Given the description of an element on the screen output the (x, y) to click on. 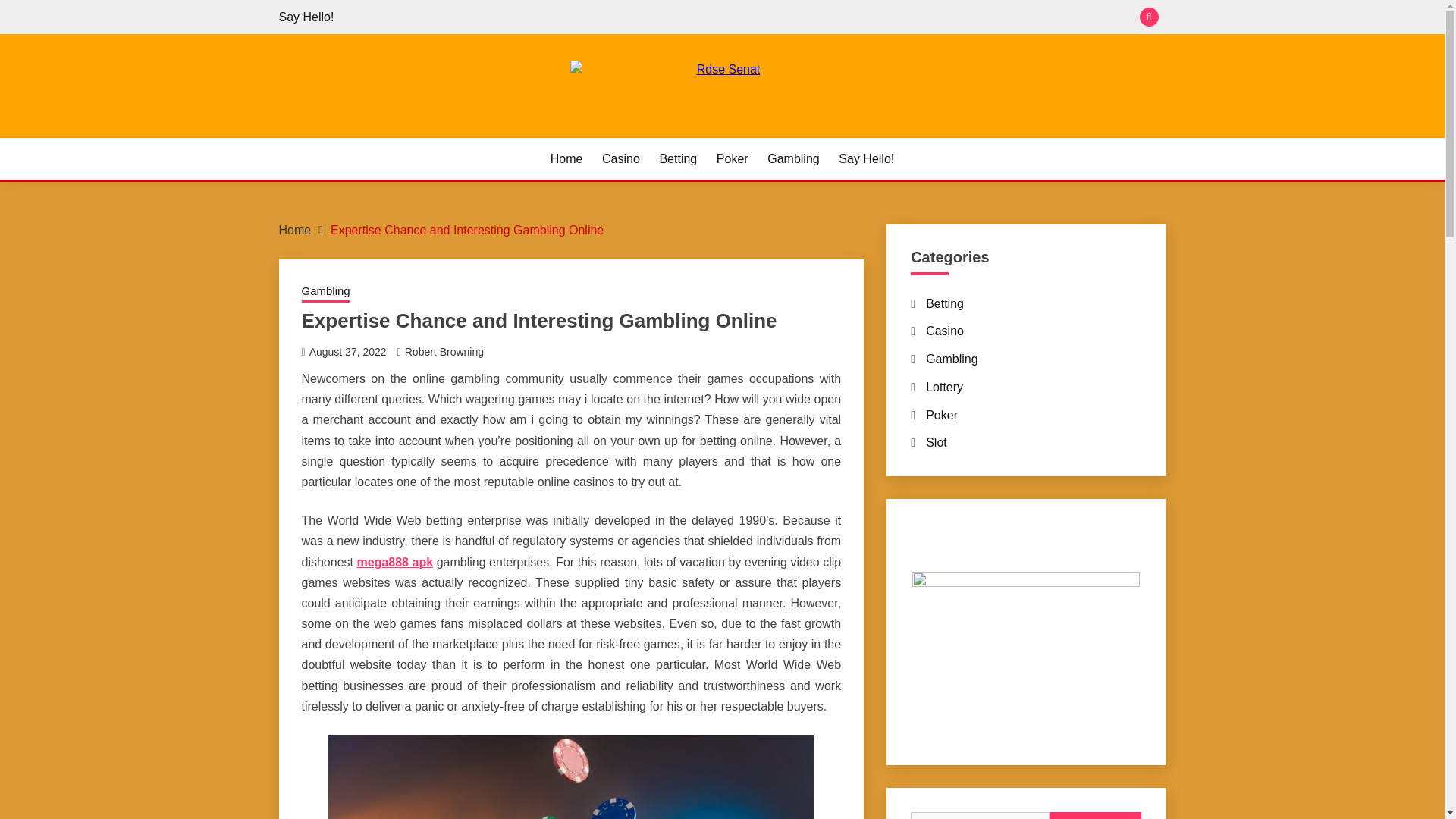
Home (566, 158)
Gambling (792, 158)
Gambling (951, 358)
Betting (678, 158)
August 27, 2022 (347, 351)
Slot (936, 441)
Robert Browning (443, 351)
mega888 apk (394, 561)
Casino (621, 158)
Casino (944, 330)
Gambling (325, 292)
Search (1095, 815)
Betting (944, 303)
Say Hello! (306, 16)
Lottery (944, 386)
